Given the description of an element on the screen output the (x, y) to click on. 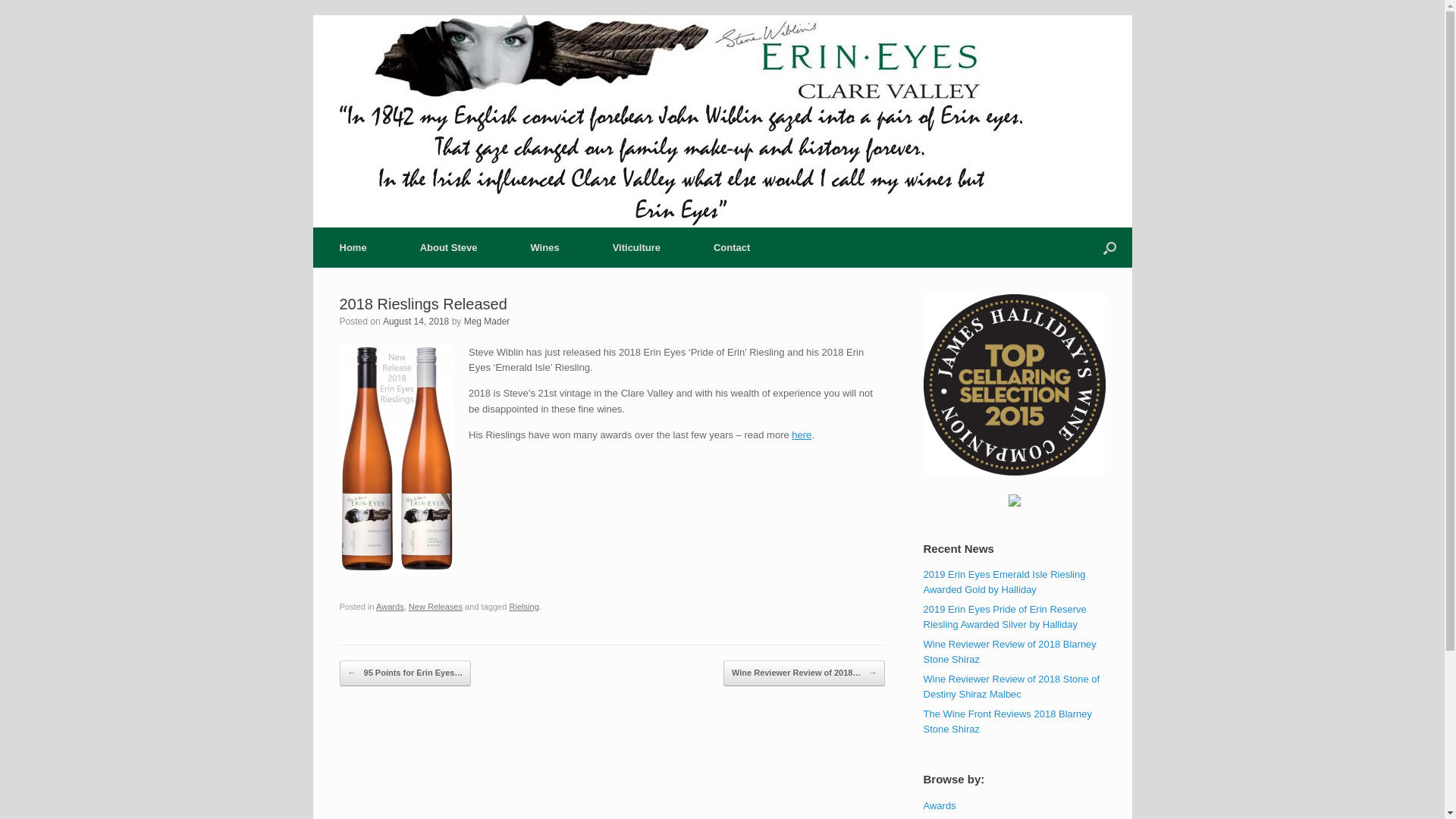
Rielsing Element type: text (523, 606)
Meg Mader Element type: text (487, 321)
Home Element type: text (352, 247)
Wine Reviewer Review of 2018 Blarney Stone Shiraz Element type: text (1009, 651)
About Steve Element type: text (448, 247)
Wine Reviewer Review of 2018 Stone of Destiny Shiraz Malbec Element type: text (1011, 686)
Wines Element type: text (544, 247)
Steve Wiblin's Erin Eyes Wines Element type: hover (680, 121)
Awards Element type: text (390, 606)
Awards Element type: text (939, 805)
August 14, 2018 Element type: text (415, 321)
The Wine Front Reviews 2018 Blarney Stone Shiraz Element type: text (1007, 721)
New Releases Element type: text (435, 606)
here Element type: text (801, 434)
Viticulture Element type: text (636, 247)
Contact Element type: text (731, 247)
